Given the description of an element on the screen output the (x, y) to click on. 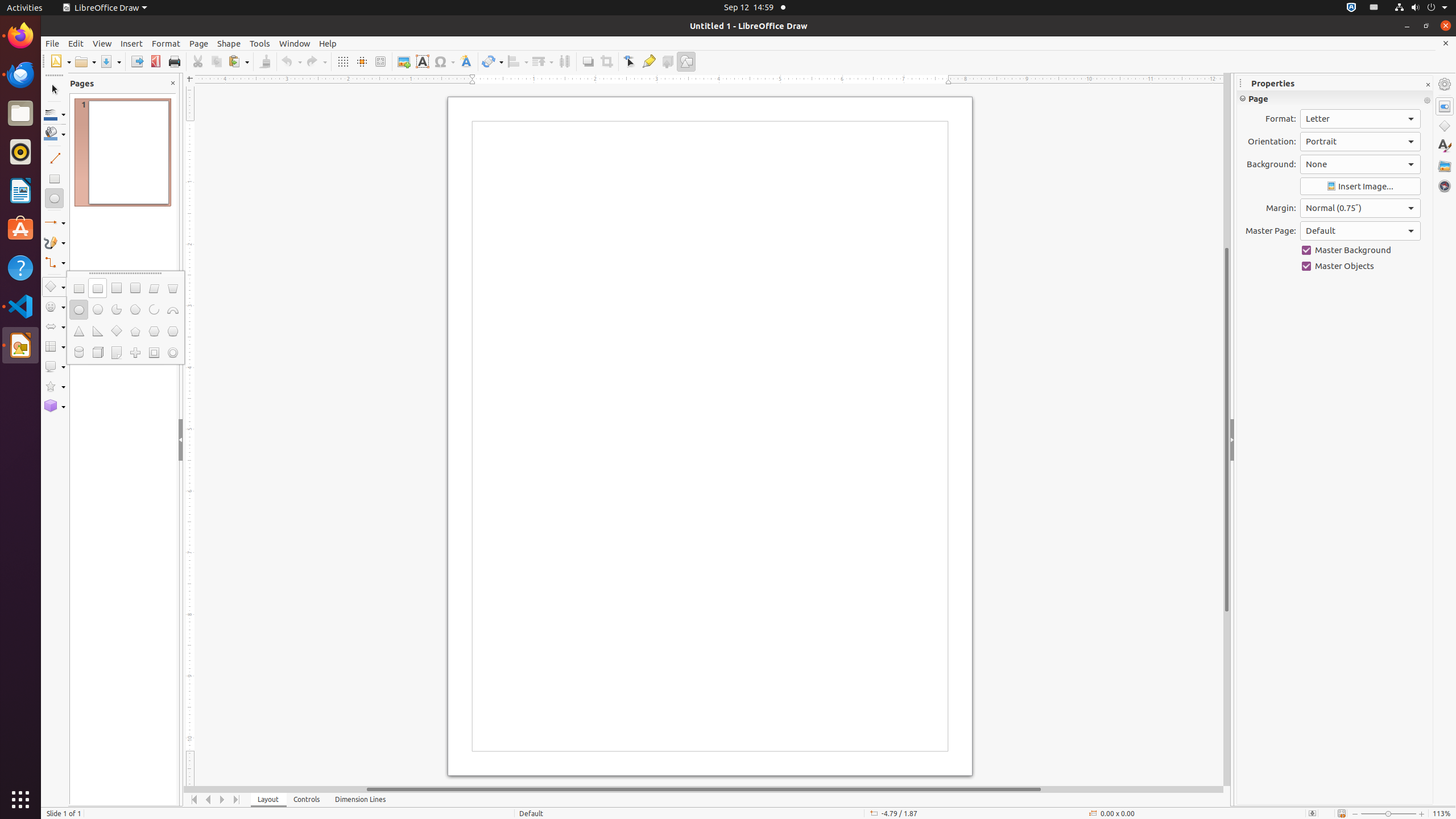
Move Left Element type: push-button (208, 799)
Shadow Element type: toggle-button (587, 61)
Visual Studio Code Element type: push-button (20, 306)
Horizontal scroll bar Element type: scroll-bar (703, 789)
:1.72/StatusNotifierItem Element type: menu (1350, 7)
